Given the description of an element on the screen output the (x, y) to click on. 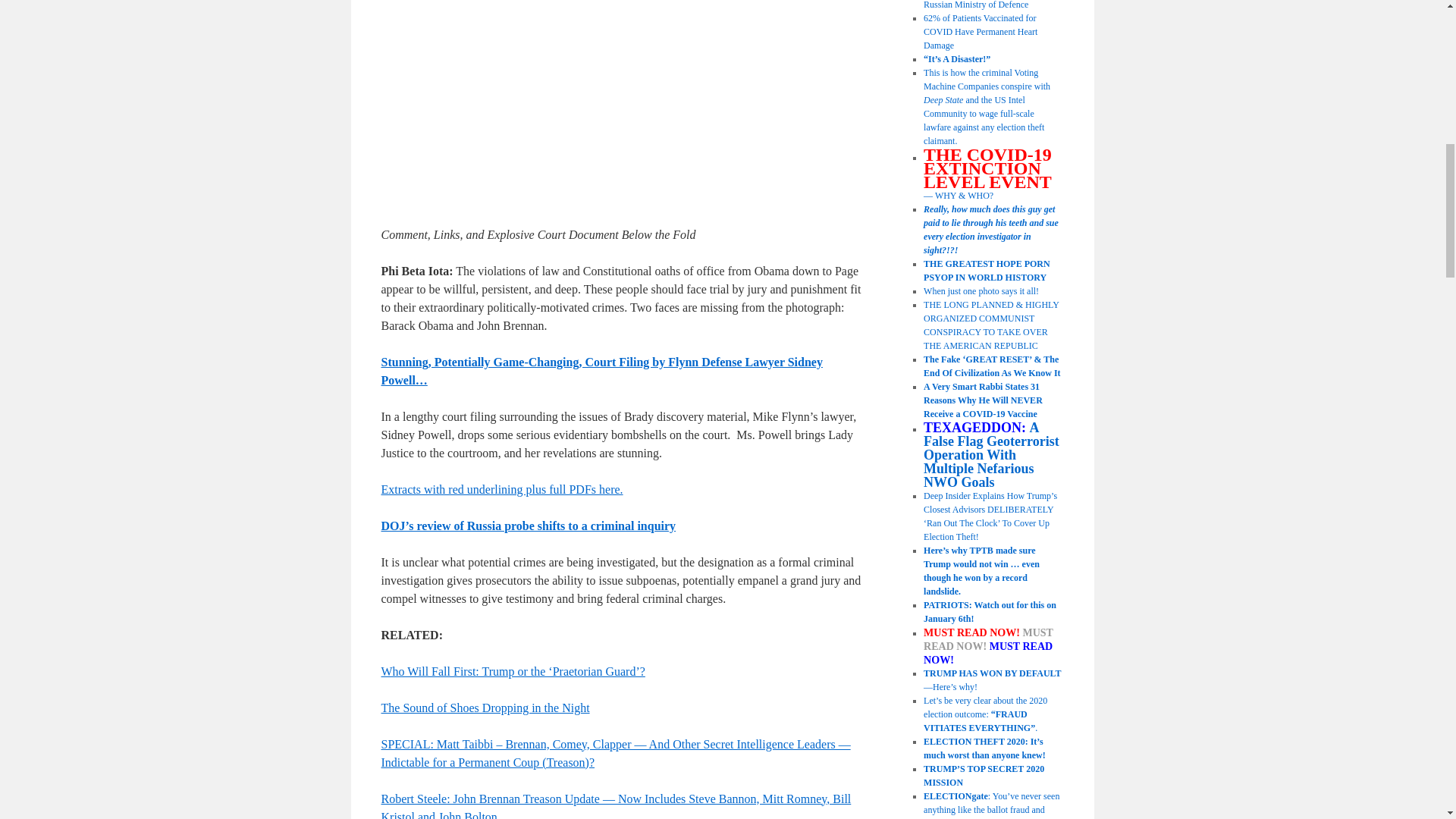
Extracts with red underlining plus full PDFs here. (501, 489)
The Sound of Shoes Dropping in the Night (484, 707)
The Sound of Shoes Dropping in the Night (484, 707)
